Given the description of an element on the screen output the (x, y) to click on. 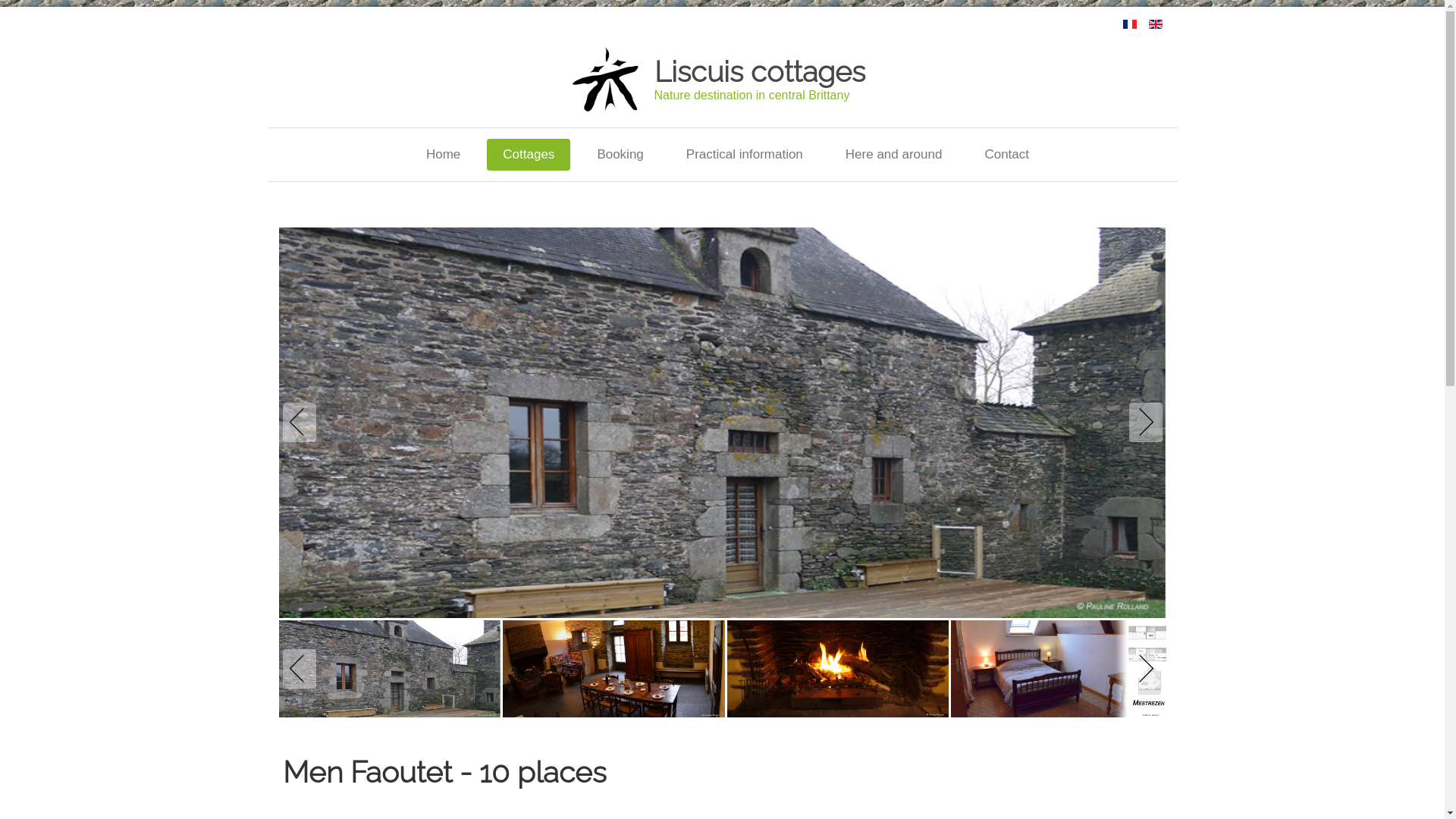
Next Element type: text (1141, 668)
English Element type: hover (1154, 23)
Cottages Element type: text (528, 154)
Next Element type: text (1141, 422)
Previous Element type: text (301, 668)
Previous Element type: text (301, 422)
Home Element type: text (443, 154)
Practical information Element type: text (744, 154)
Contact Element type: text (1006, 154)
Liscuis cottages Element type: text (758, 71)
Booking Element type: text (619, 154)
Here and around Element type: text (893, 154)
